Given the description of an element on the screen output the (x, y) to click on. 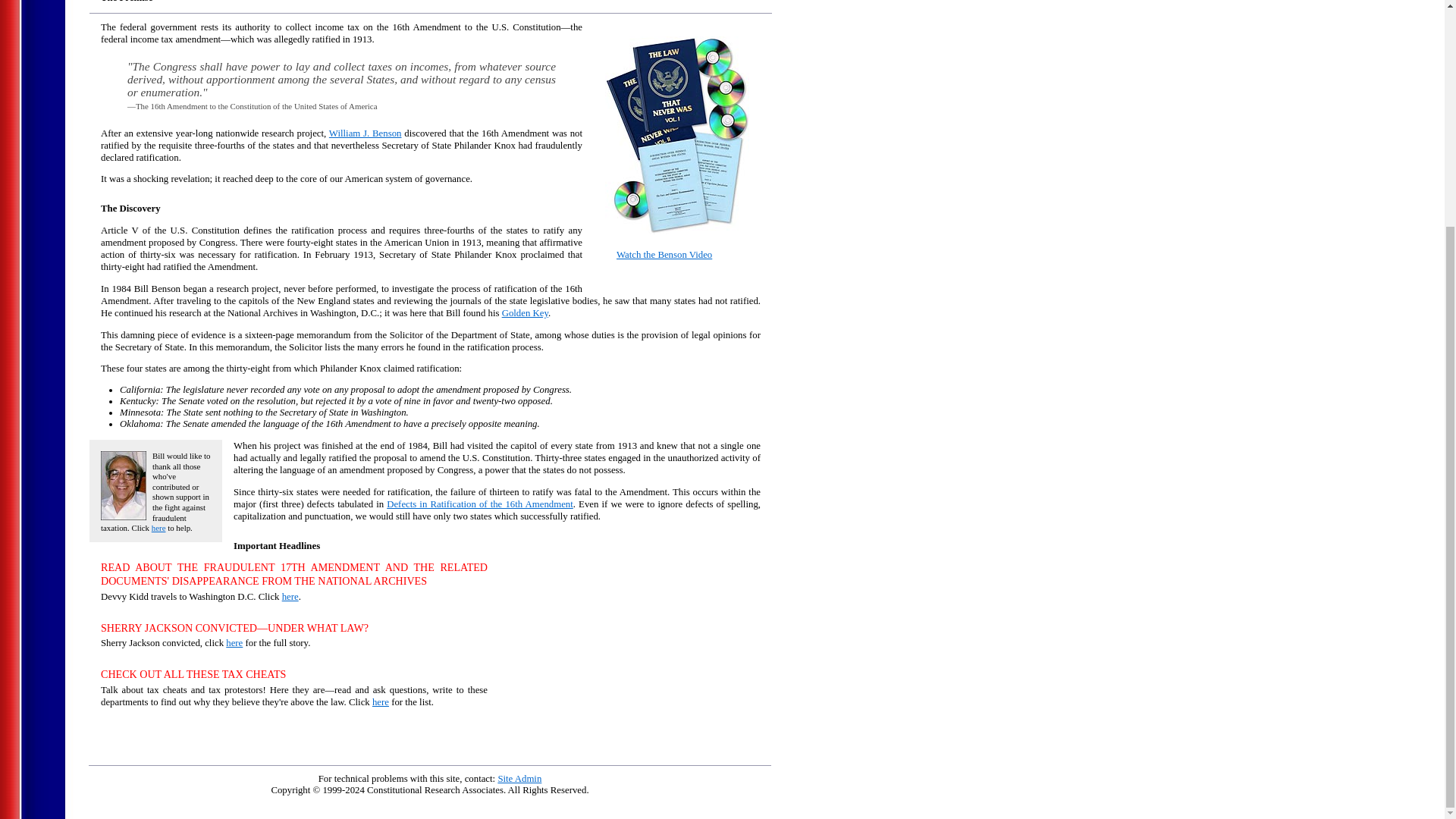
Defects in Ratification of the 16th Amendment (480, 503)
Site Admin (519, 778)
Watch the Benson Video (663, 254)
here (158, 527)
here (380, 701)
Visit our store (677, 231)
here (234, 643)
here (290, 596)
William J. Benson (365, 132)
Golden Key (525, 312)
